Given the description of an element on the screen output the (x, y) to click on. 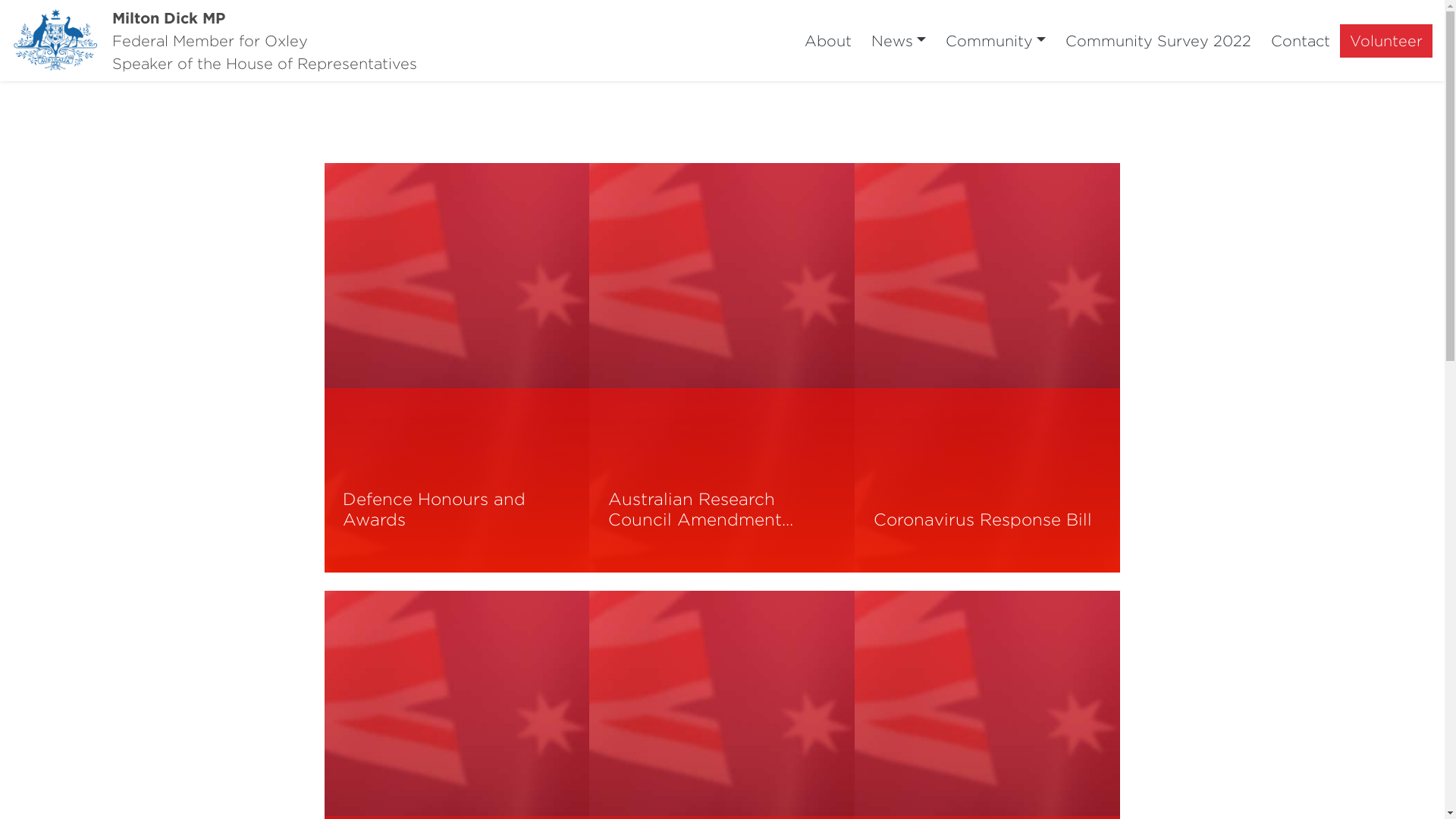
About Element type: text (827, 40)
Contact Element type: text (1300, 40)
News Element type: text (898, 40)
Volunteer Element type: text (1385, 40)
Community Survey 2022 Element type: text (1158, 40)
Community Element type: text (995, 40)
